Given the description of an element on the screen output the (x, y) to click on. 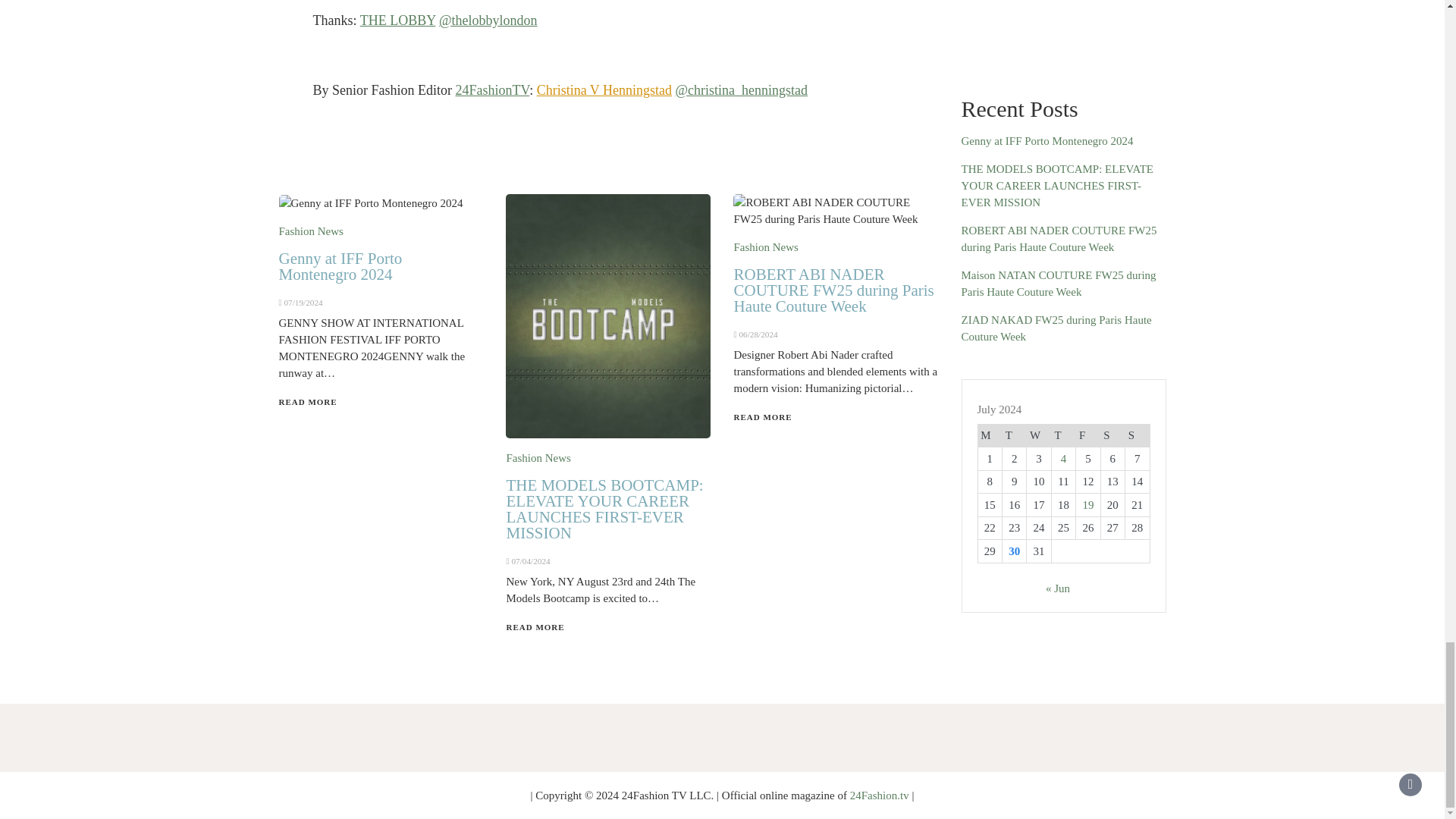
24FashionTV (491, 89)
THE LOBBY (397, 20)
Genny at IFF Porto Montenegro 2024 (341, 266)
READ MORE (308, 401)
READ MORE (534, 626)
Fashion News (537, 458)
Fashion News (311, 231)
Christina V Henningstad (604, 89)
